Given the description of an element on the screen output the (x, y) to click on. 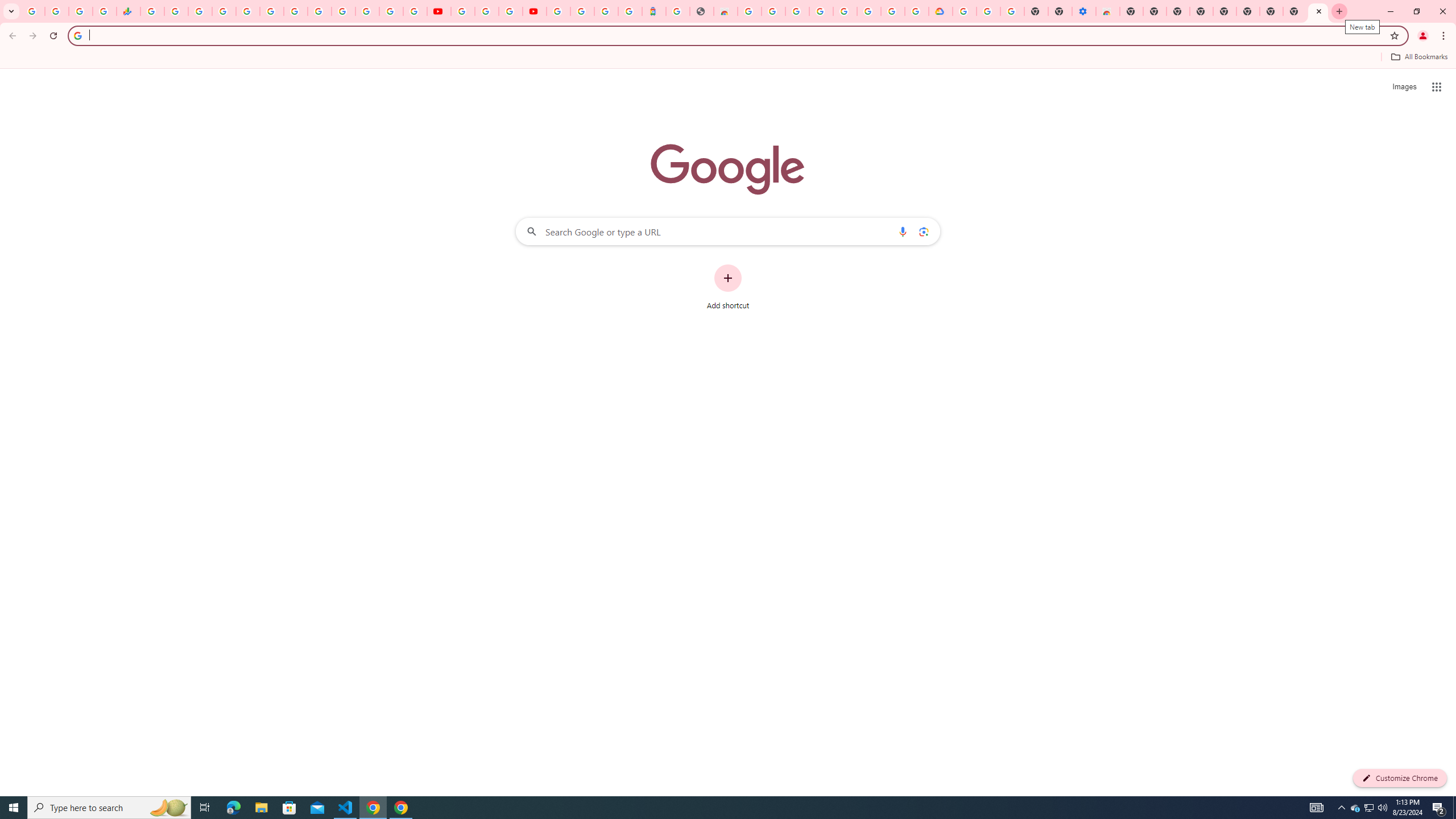
Google Account Help (988, 11)
Bookmarks (728, 58)
Content Creator Programs & Opportunities - YouTube Creators (533, 11)
Search Google or type a URL (727, 230)
Chrome Web Store - Household (725, 11)
Privacy Checkup (414, 11)
Create your Google Account (510, 11)
